Given the description of an element on the screen output the (x, y) to click on. 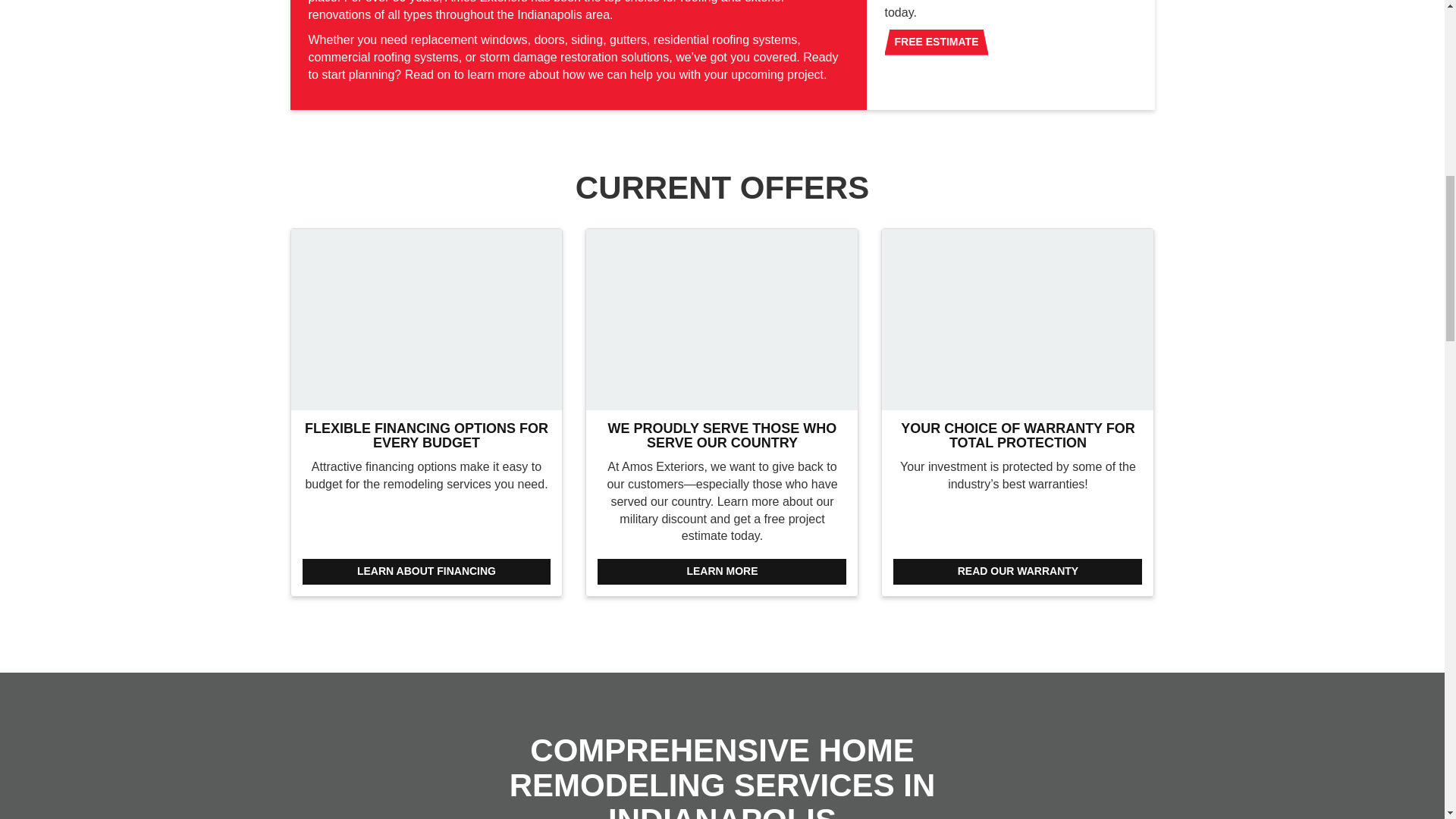
FREE ESTIMATE (935, 42)
